Given the description of an element on the screen output the (x, y) to click on. 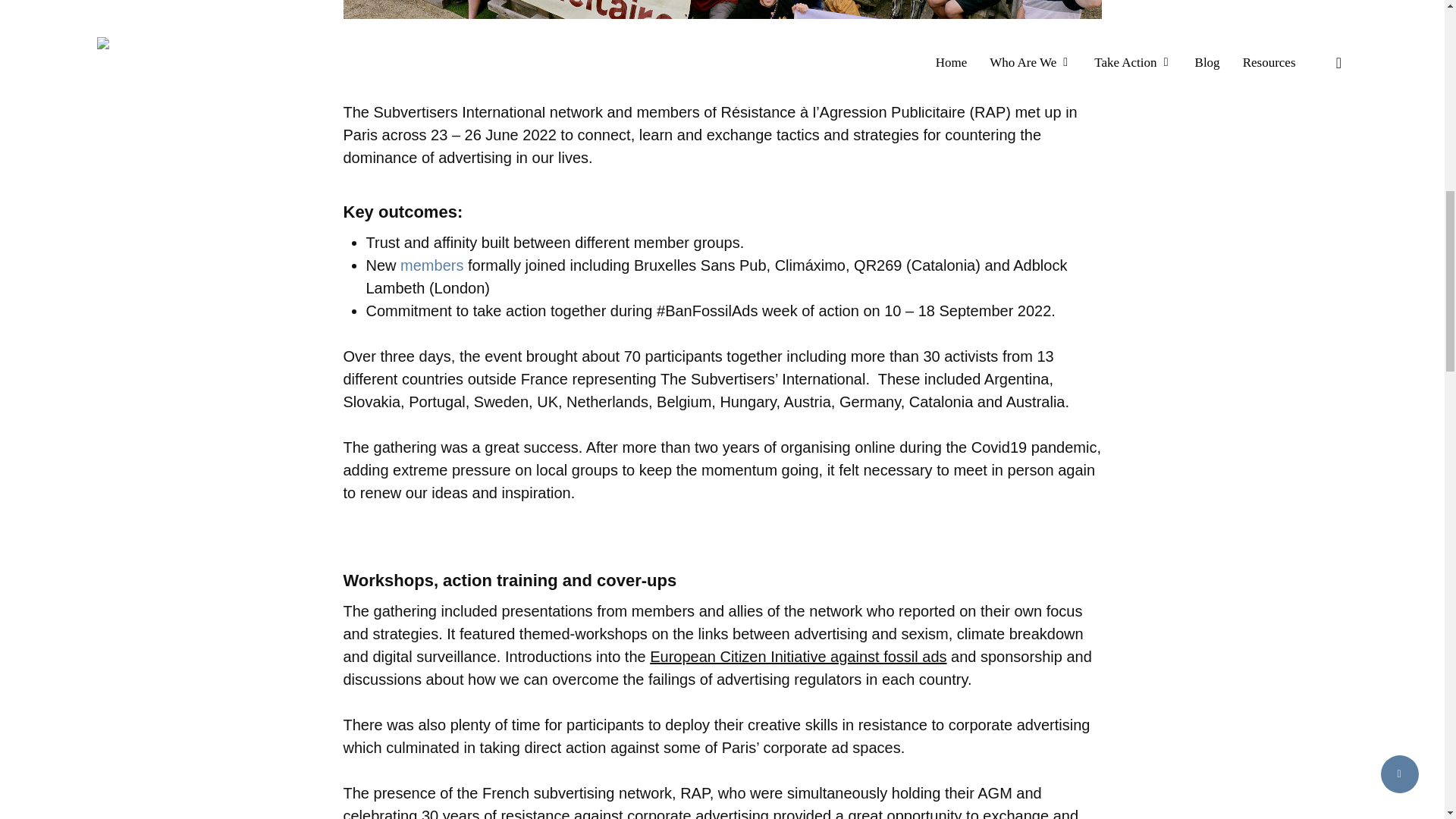
30 years of resistance against corporate advertising (595, 813)
members (431, 265)
European Citizen Initiative against fossil ads (797, 656)
